Given the description of an element on the screen output the (x, y) to click on. 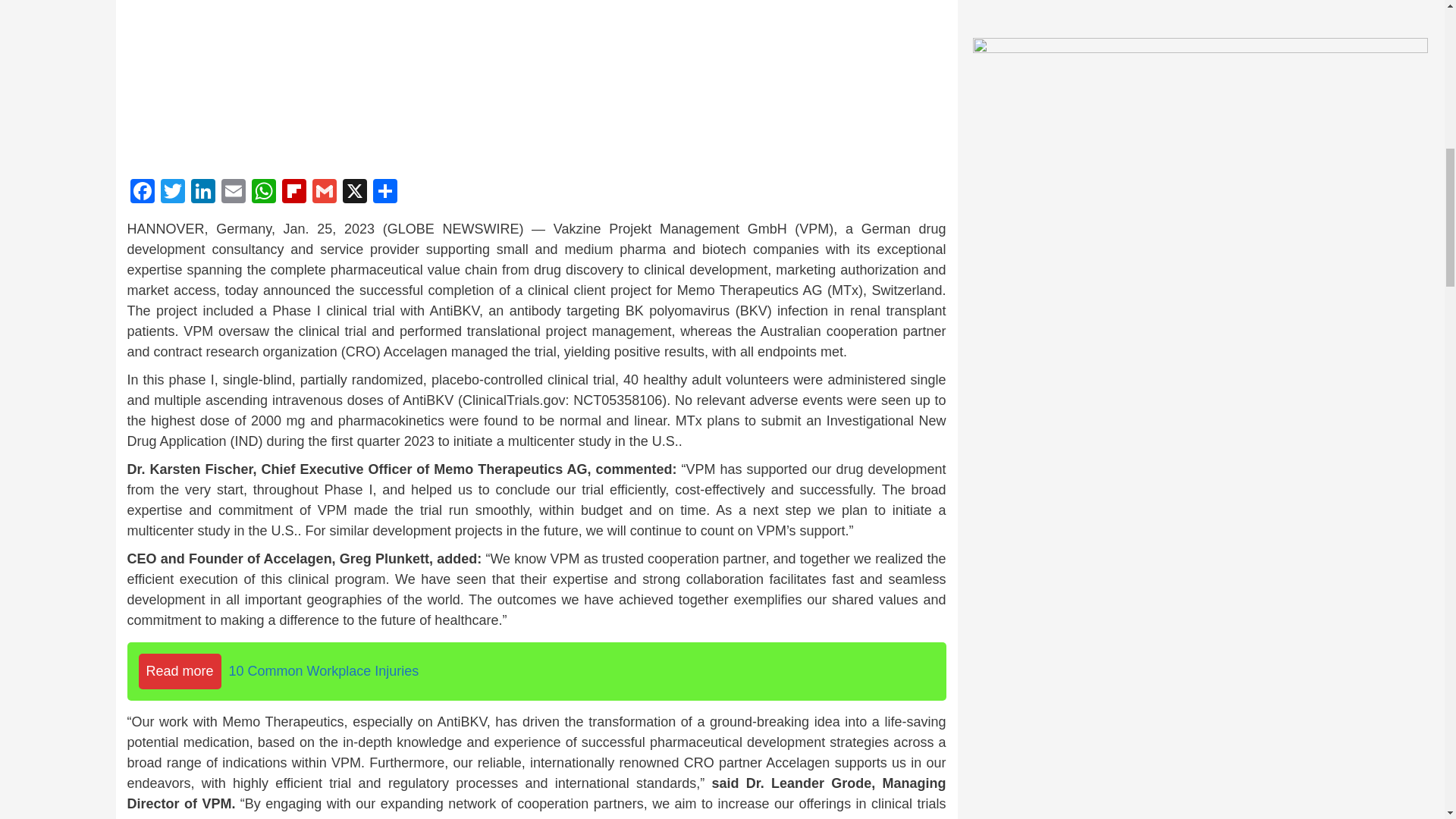
Share (384, 193)
WhatsApp (263, 193)
Email (233, 193)
Twitter (172, 193)
Flipboard (293, 193)
LinkedIn (202, 193)
Read more10 Common Workplace Injuries (537, 671)
Gmail (323, 193)
Facebook (142, 193)
Facebook (142, 193)
